Given the description of an element on the screen output the (x, y) to click on. 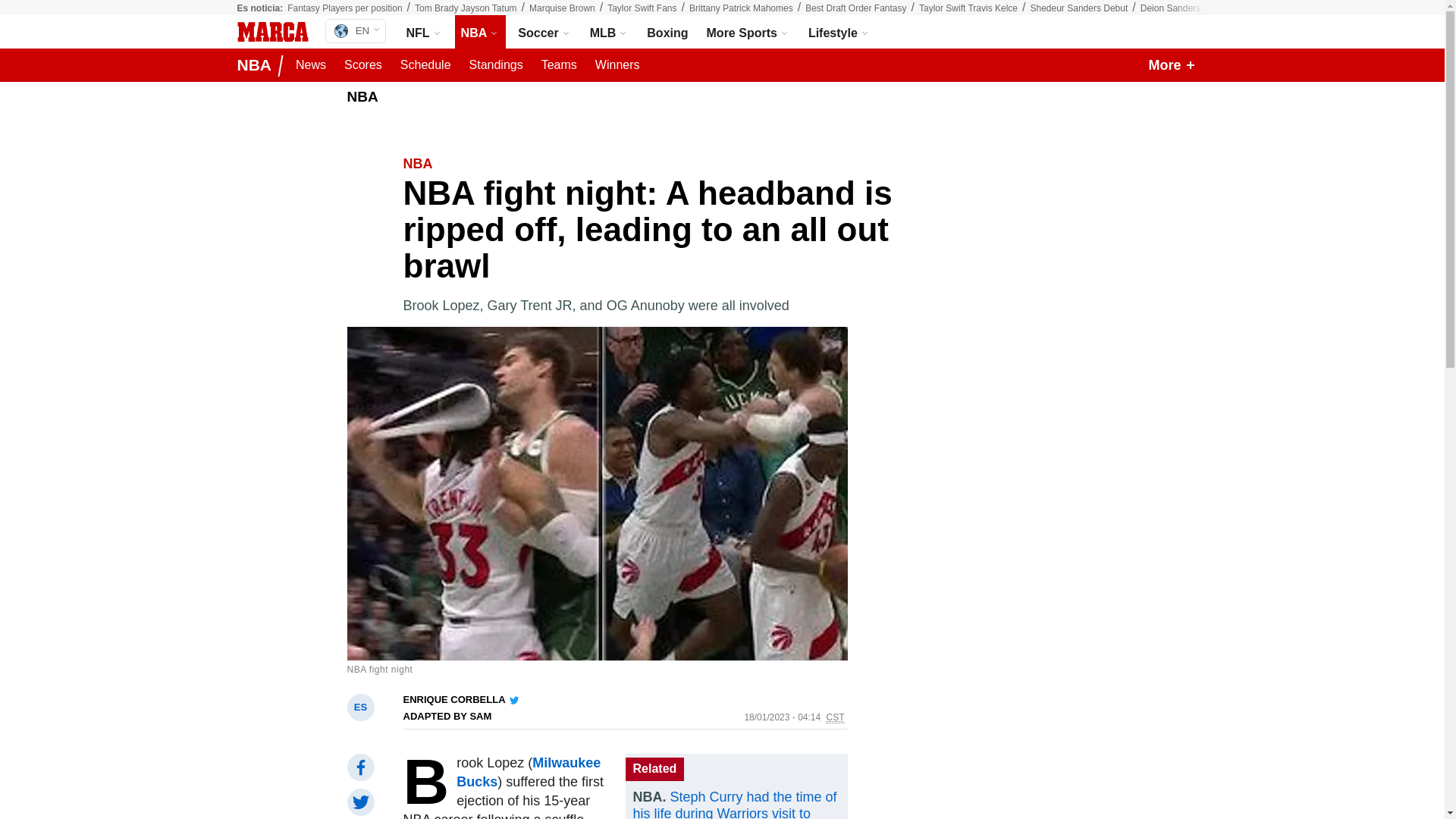
Shedeur Sanders Debut (1077, 8)
News (310, 64)
NFL (424, 31)
Deion Sanders (1169, 8)
Scores (362, 64)
NBA (480, 31)
More Sports (748, 31)
News (310, 64)
More Sports (748, 31)
Tom Brady Jayson Tatum (465, 8)
